Given the description of an element on the screen output the (x, y) to click on. 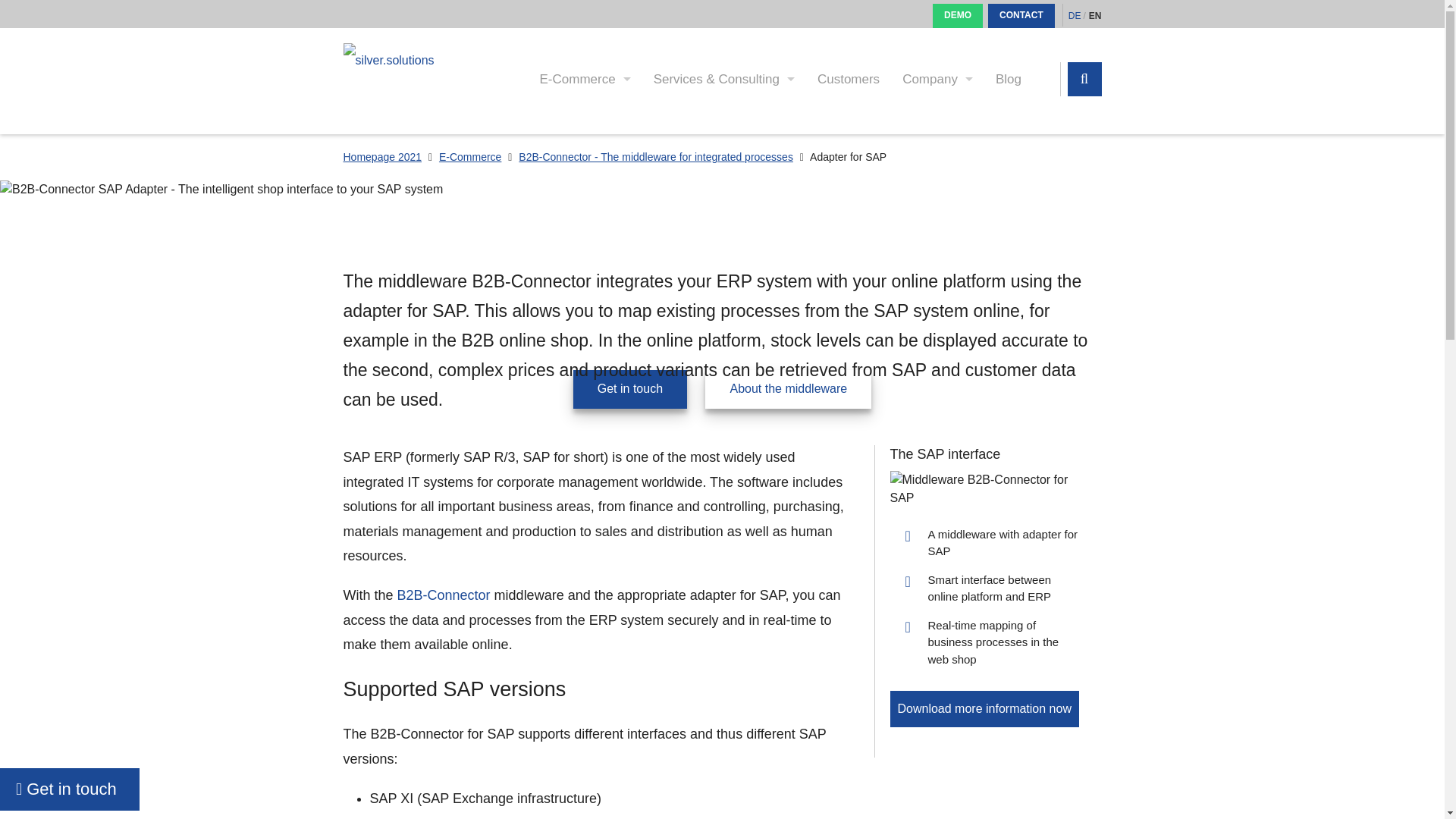
Company (520, 239)
Adapter for SAP (497, 366)
Adapter for Dynamics AX (937, 79)
Adapter for PIM (520, 468)
Videos (520, 445)
E-Commerce (520, 491)
Digital Experience Platforms (497, 275)
